Given the description of an element on the screen output the (x, y) to click on. 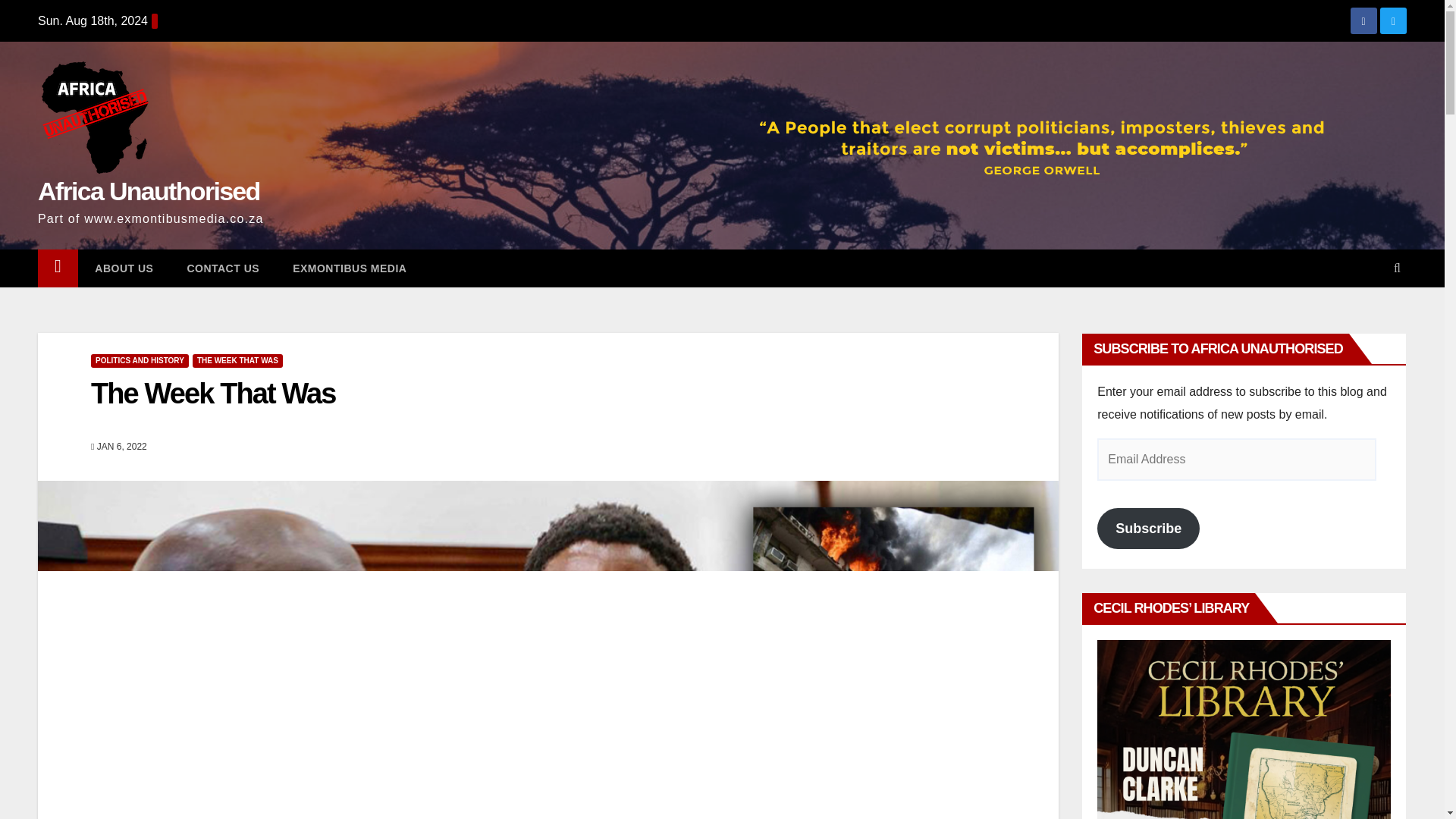
Africa Unauthorised (148, 190)
CONTACT US (223, 268)
ADVERTISE WITH AFRICA UNAUTHORISED (1243, 729)
The Week That Was (212, 393)
Permalink to: The Week That Was (212, 393)
Subscribe (1148, 527)
THE WEEK THAT WAS (237, 360)
EXMONTIBUS MEDIA (349, 268)
ABOUT US (124, 268)
POLITICS AND HISTORY (139, 360)
